Given the description of an element on the screen output the (x, y) to click on. 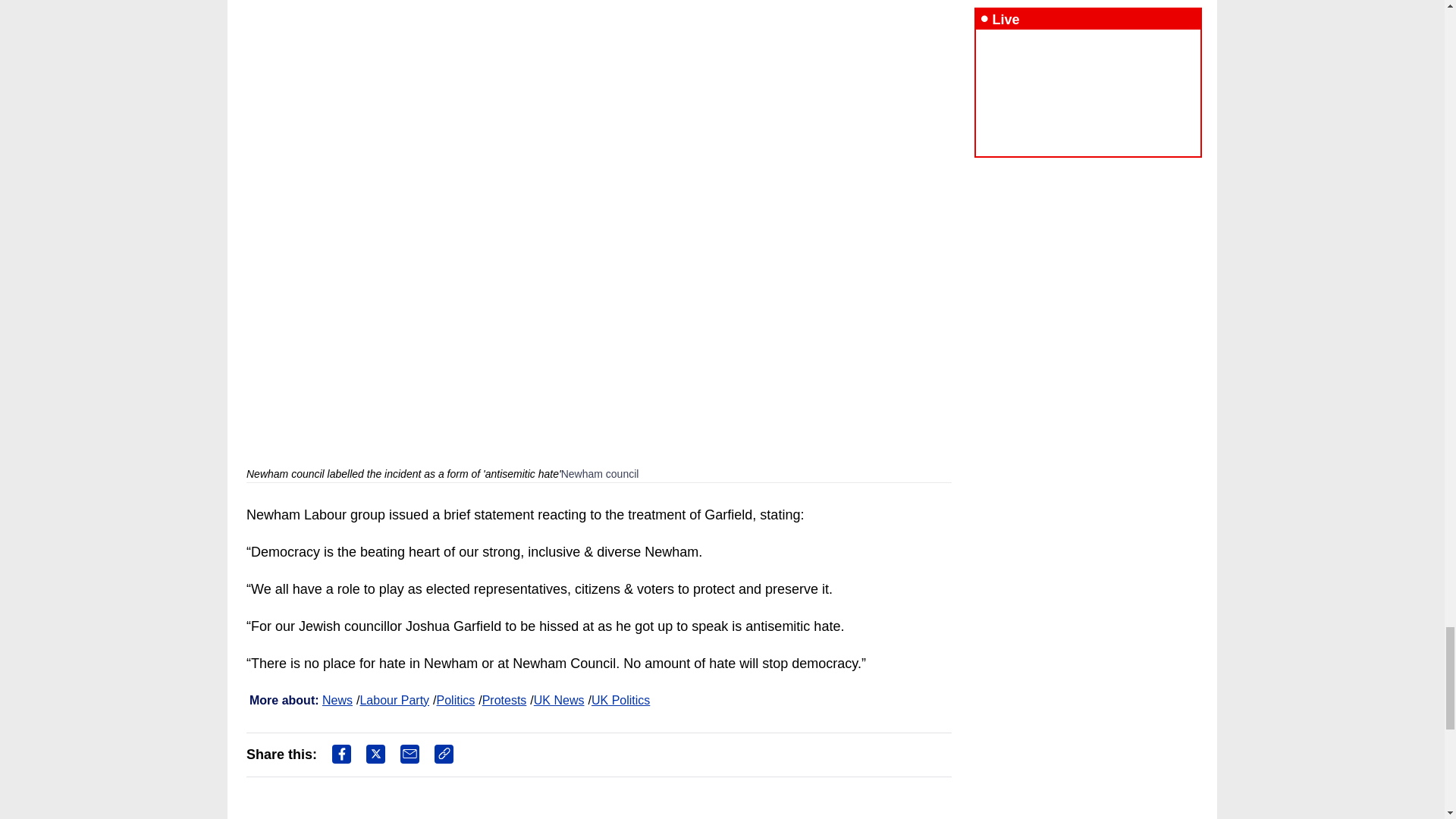
Copy this link to clipboard (442, 753)
